Given the description of an element on the screen output the (x, y) to click on. 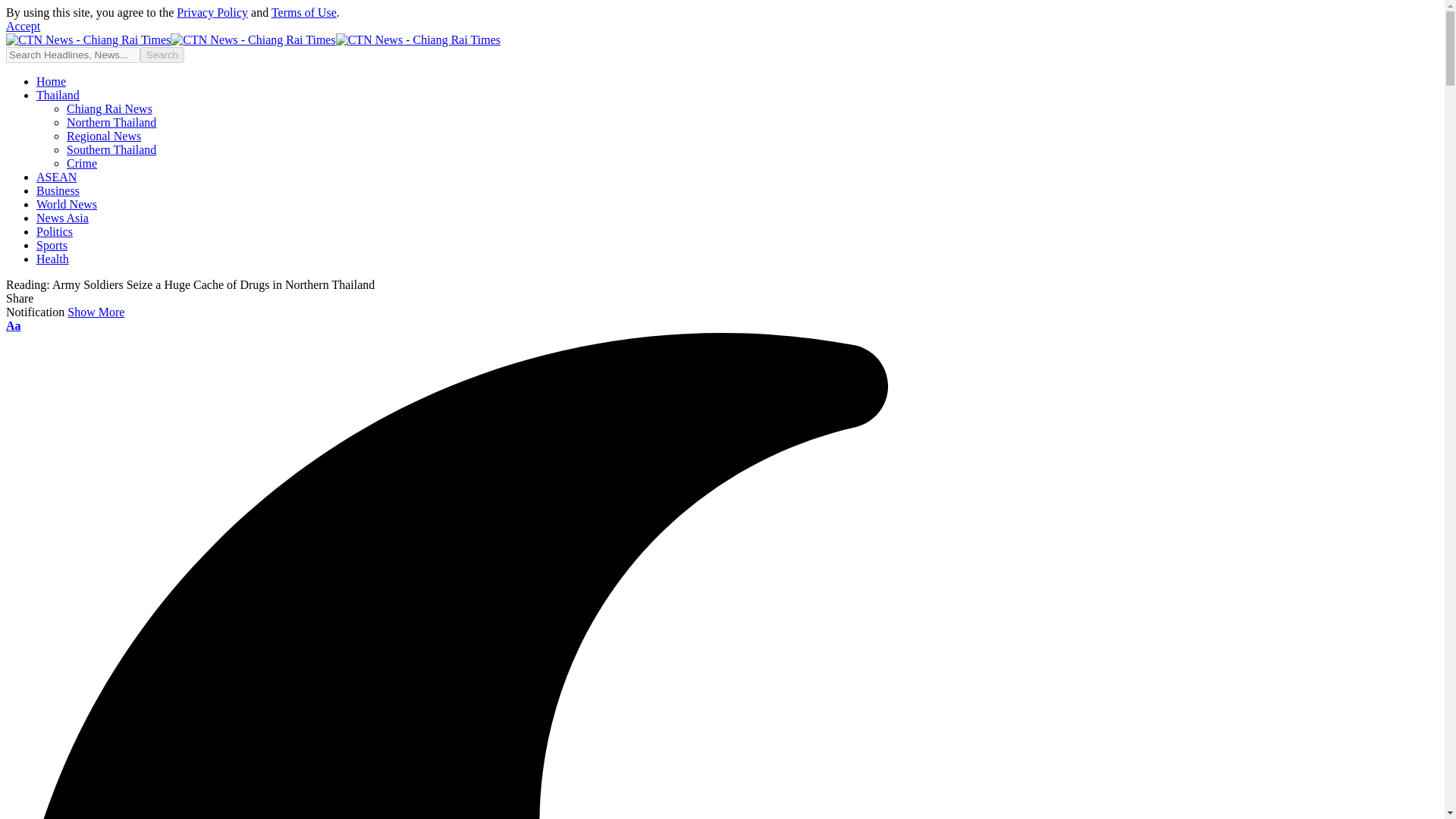
Aa (13, 325)
Sports (51, 245)
Crime (81, 163)
Business (58, 190)
Northern Thailand (110, 122)
Regional News (103, 135)
Home (50, 81)
Politics (54, 231)
Search (161, 54)
Terms of Use (303, 11)
